Given the description of an element on the screen output the (x, y) to click on. 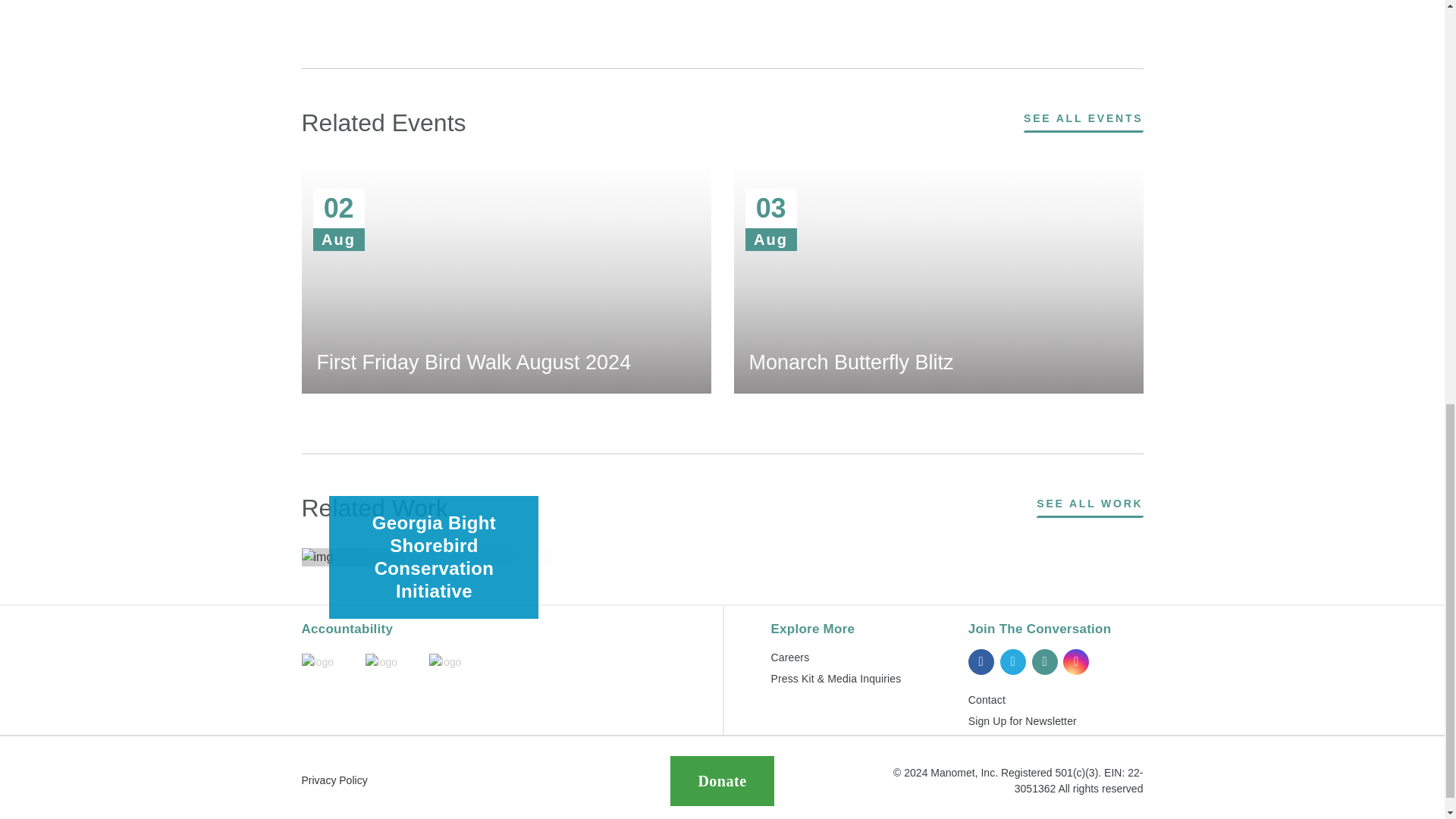
First Friday Bird Walk August 2024 (506, 277)
See all events (1082, 119)
Monarch Butterfly Blitz (937, 277)
See all Work (1089, 505)
